Given the description of an element on the screen output the (x, y) to click on. 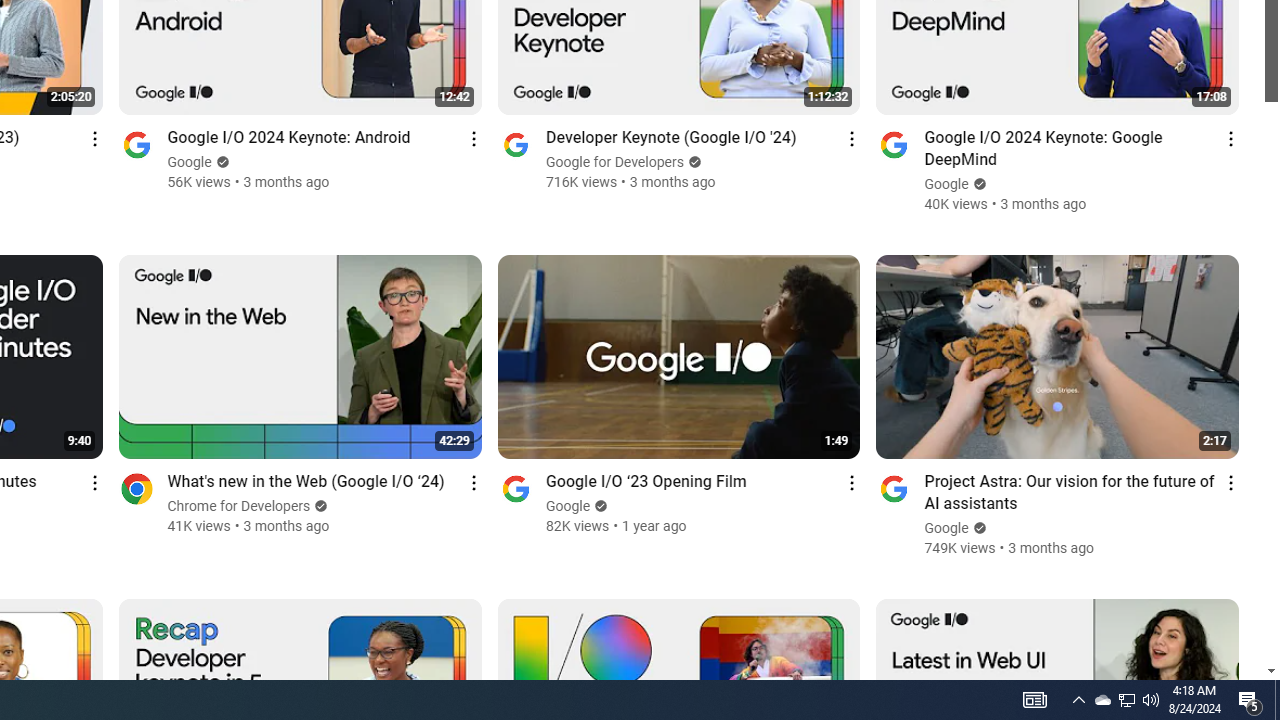
Verified (976, 528)
Action menu (1229, 482)
Google (947, 528)
Chrome for Developers (239, 506)
Google for Developers (615, 161)
Go to channel (893, 488)
